Given the description of an element on the screen output the (x, y) to click on. 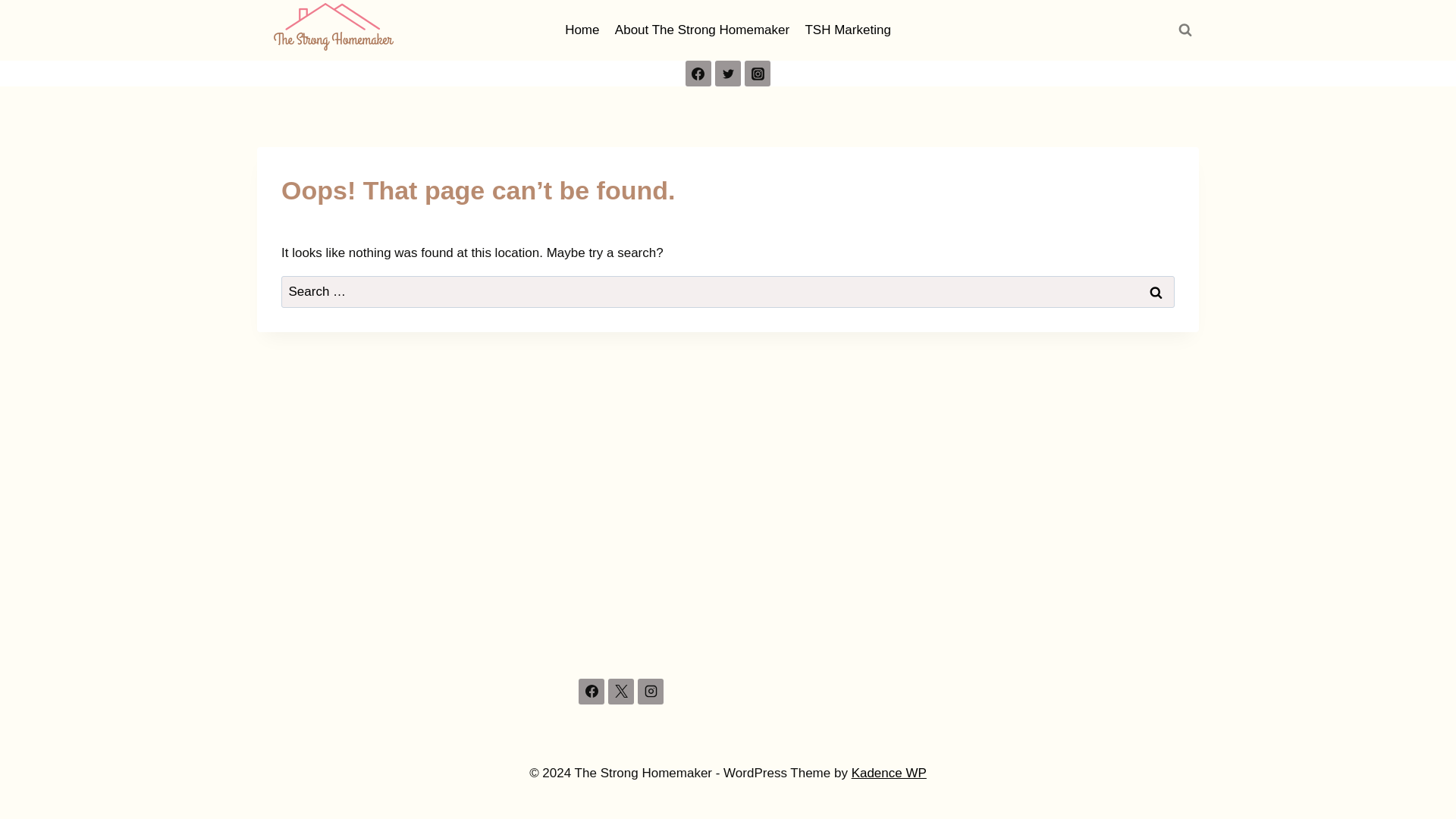
About The Strong Homemaker (702, 30)
Search (1155, 292)
Kadence WP (888, 772)
Search (1155, 292)
Search (1155, 292)
TSH Marketing (847, 30)
